Given the description of an element on the screen output the (x, y) to click on. 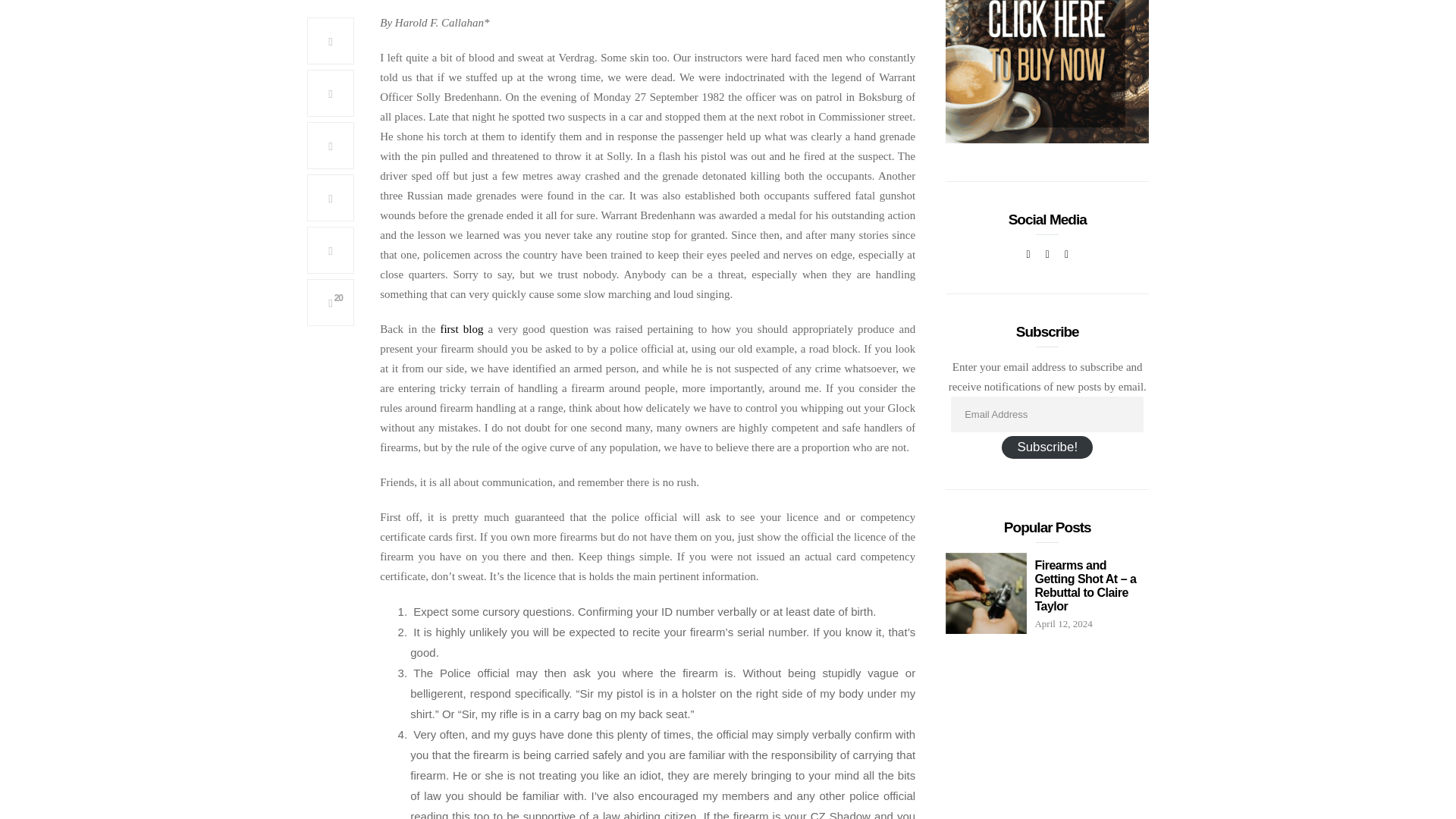
Share on Facebook (330, 40)
Share on Twitter (330, 93)
20 (330, 302)
Share on Pinterest (330, 145)
Share by Email (330, 249)
Comments (330, 302)
